Given the description of an element on the screen output the (x, y) to click on. 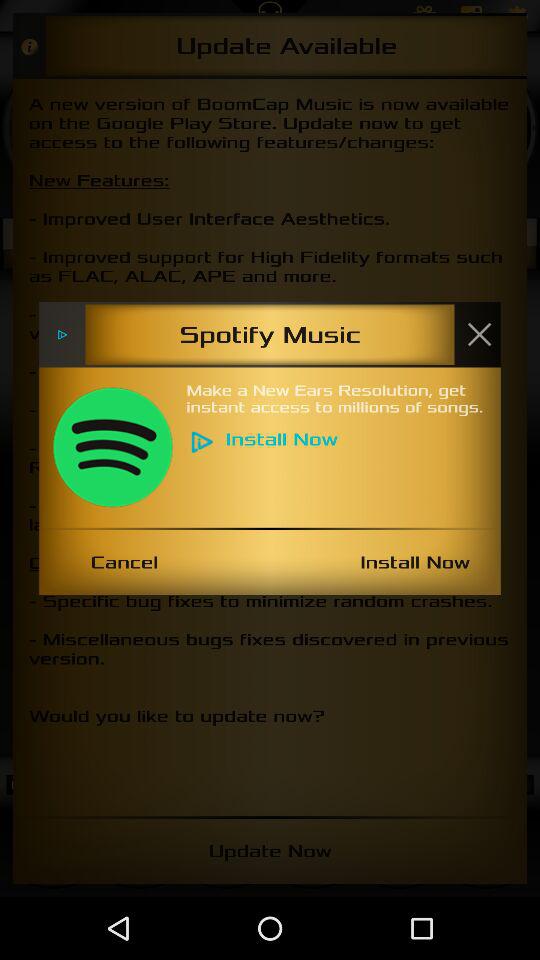
go to spotify symbol (112, 447)
